Given the description of an element on the screen output the (x, y) to click on. 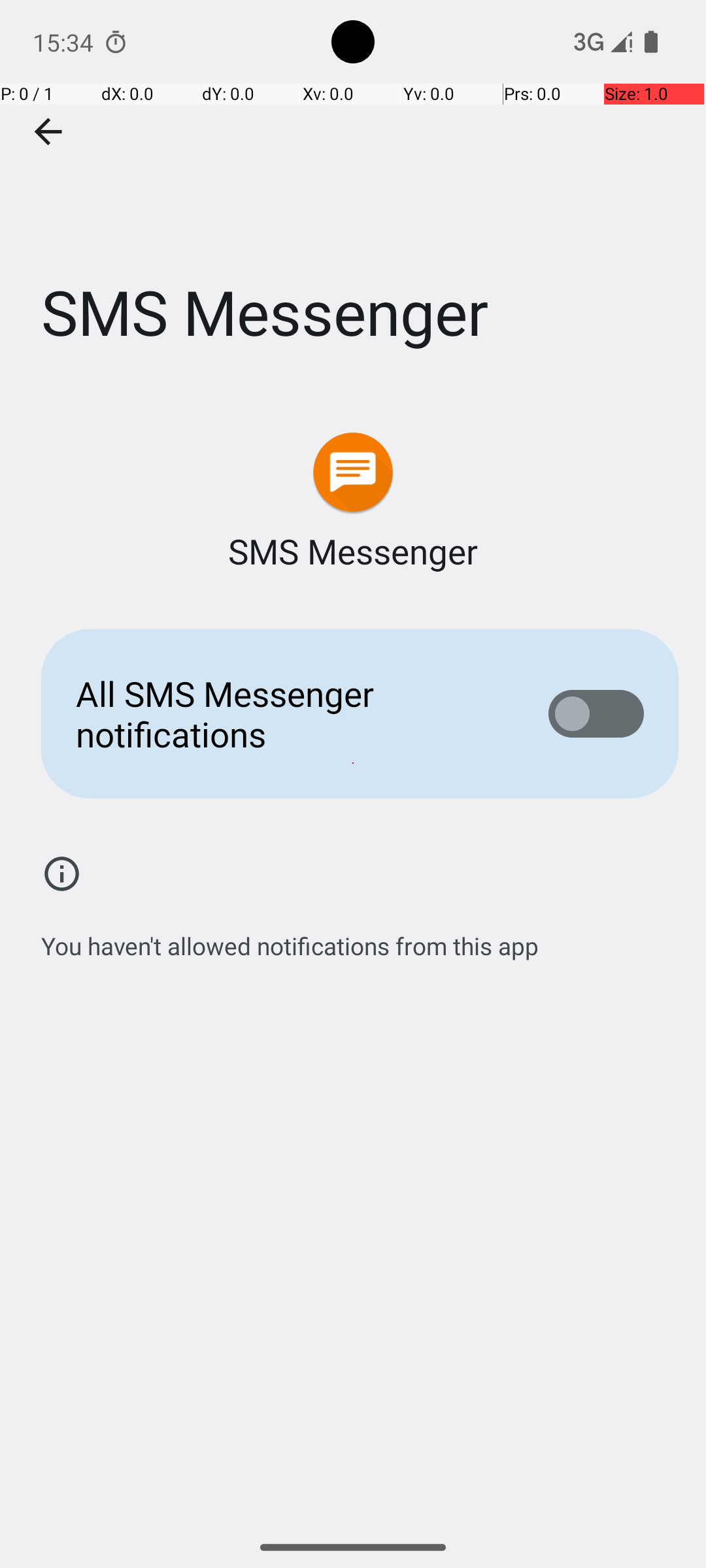
All SMS Messenger notifications Element type: android.widget.TextView (291, 713)
